Given the description of an element on the screen output the (x, y) to click on. 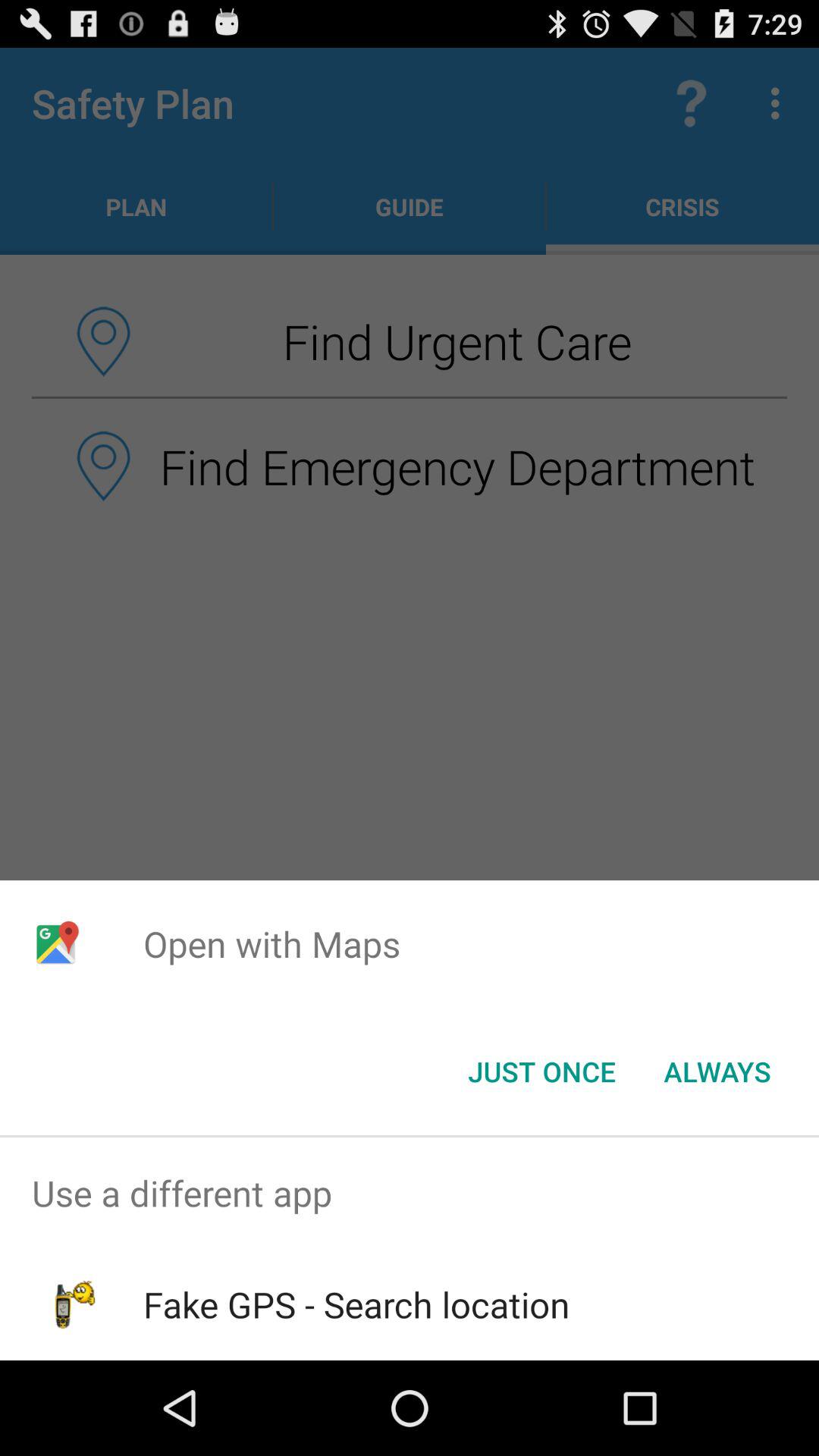
turn on the just once icon (541, 1071)
